Given the description of an element on the screen output the (x, y) to click on. 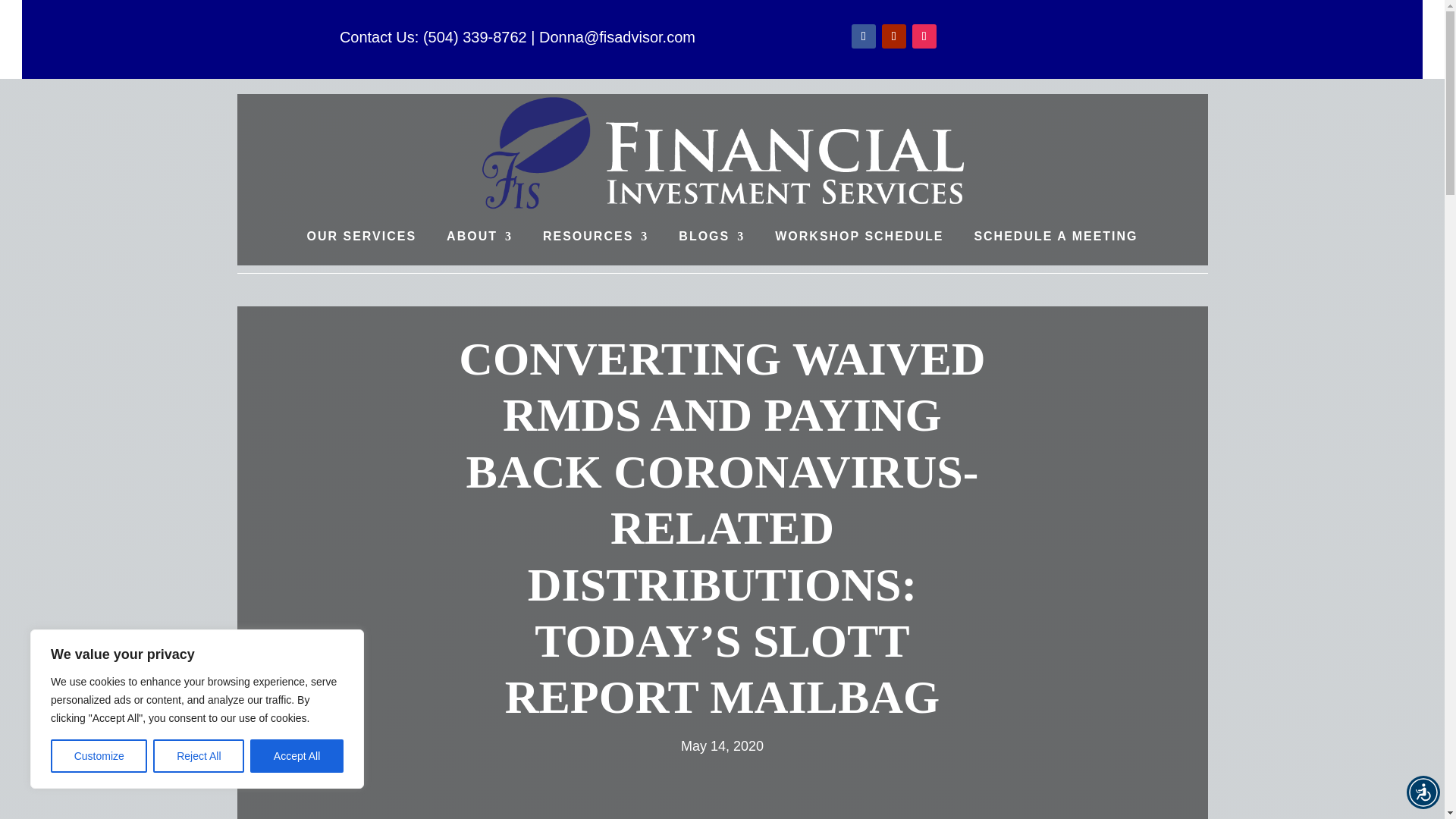
BLOGS (711, 236)
Follow on Facebook (863, 36)
OUR SERVICES (360, 236)
Customize (98, 756)
SCHEDULE A MEETING (1055, 236)
WORKSHOP SCHEDULE (858, 236)
ABOUT (479, 236)
Reject All (198, 756)
Follow on Instagram (924, 36)
Accessibility Menu (1422, 792)
